Given the description of an element on the screen output the (x, y) to click on. 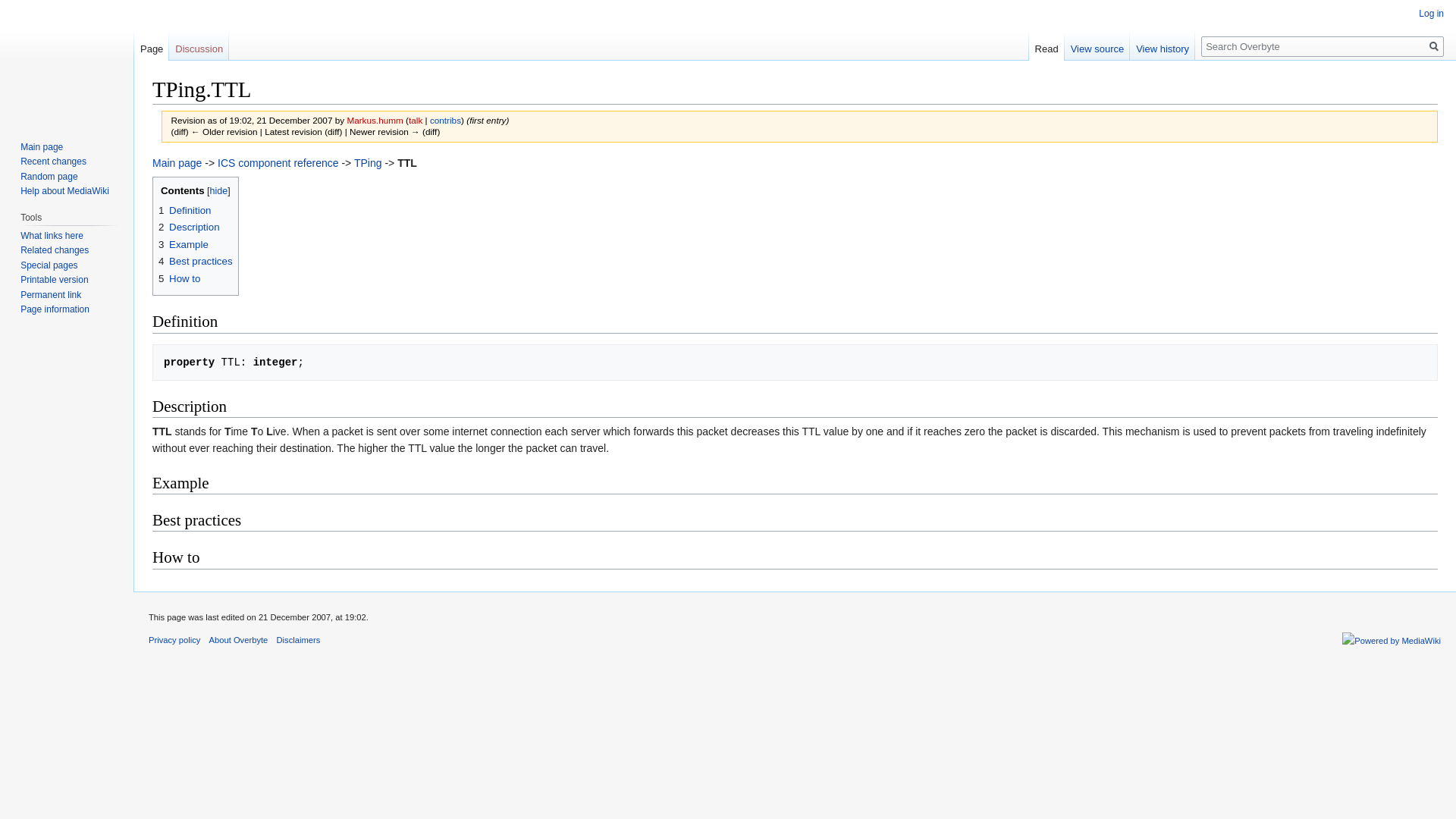
Read (1046, 45)
Permanent link (50, 294)
Main Page (177, 162)
ICS component reference (277, 162)
TPing (367, 162)
About Overbyte (238, 639)
View source (1097, 45)
View history (1162, 45)
Search (1433, 46)
